Given the description of an element on the screen output the (x, y) to click on. 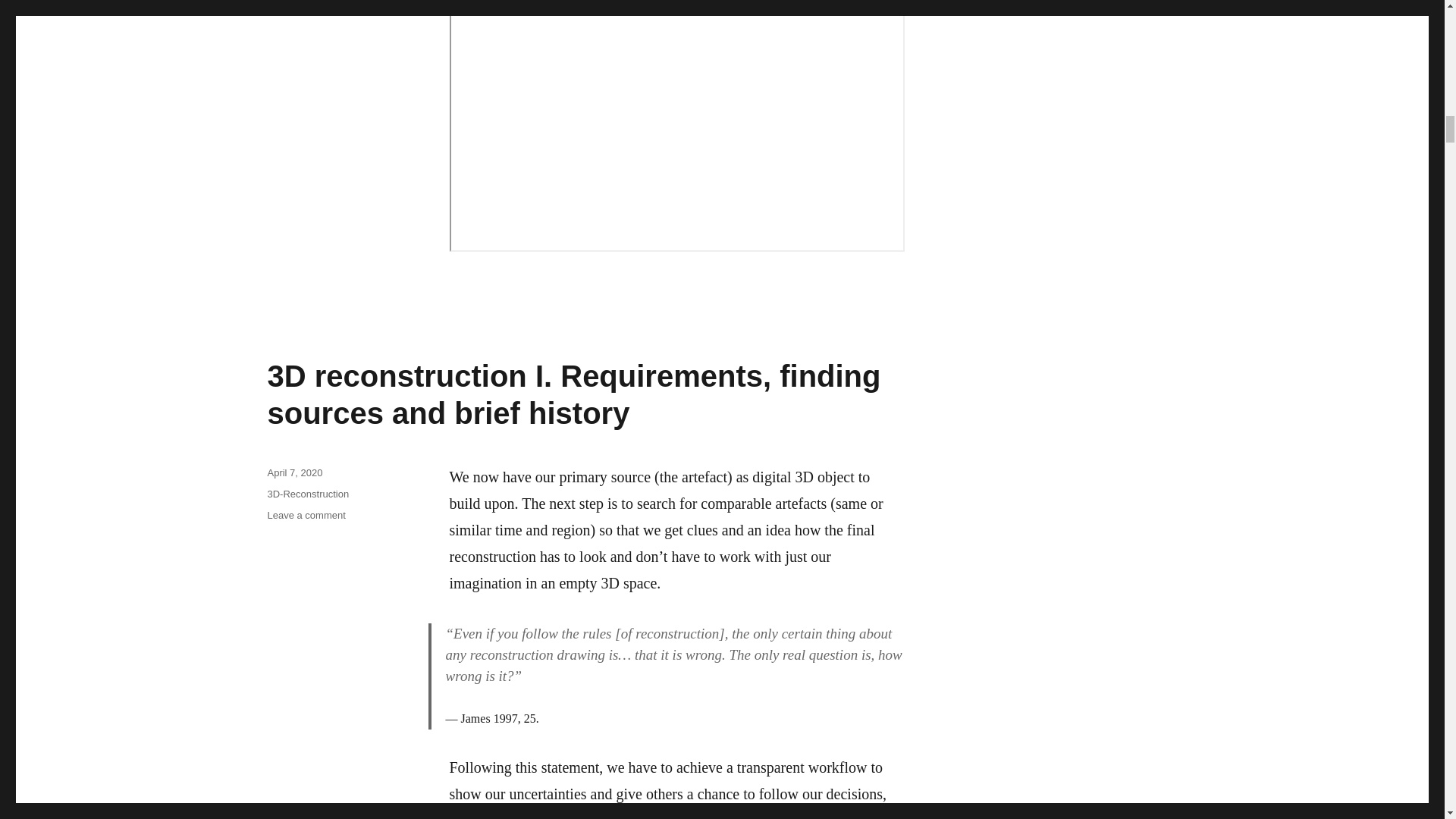
April 7, 2020 (293, 472)
3D-Reconstruction (307, 493)
